Given the description of an element on the screen output the (x, y) to click on. 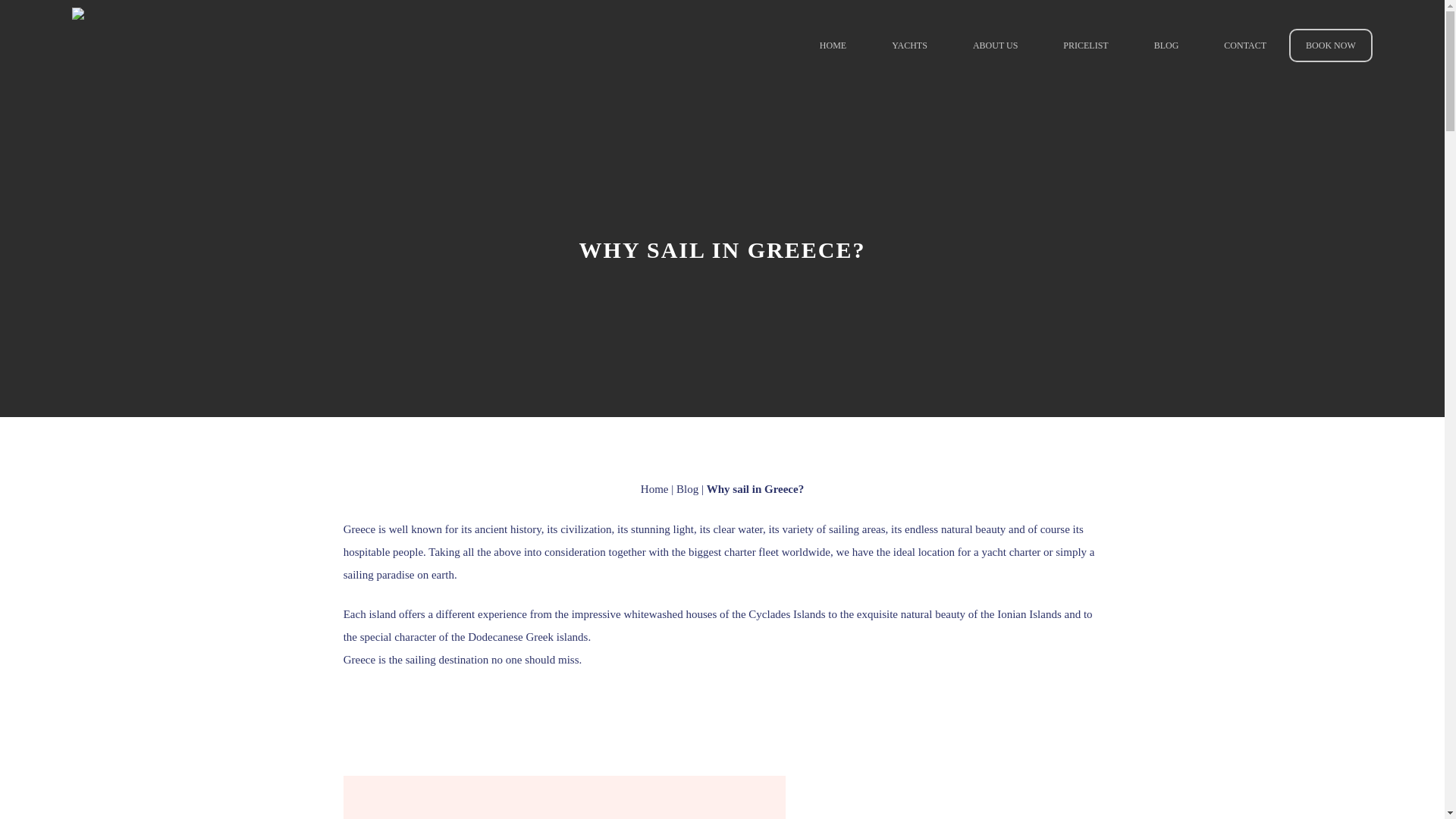
BOOK NOW (1330, 45)
YACHTS (908, 45)
Home (654, 489)
BLOG (1166, 45)
Blog (687, 489)
CONTACT (1244, 45)
PRICELIST (1085, 45)
ABOUT US (995, 45)
HOME (832, 45)
